Given the description of an element on the screen output the (x, y) to click on. 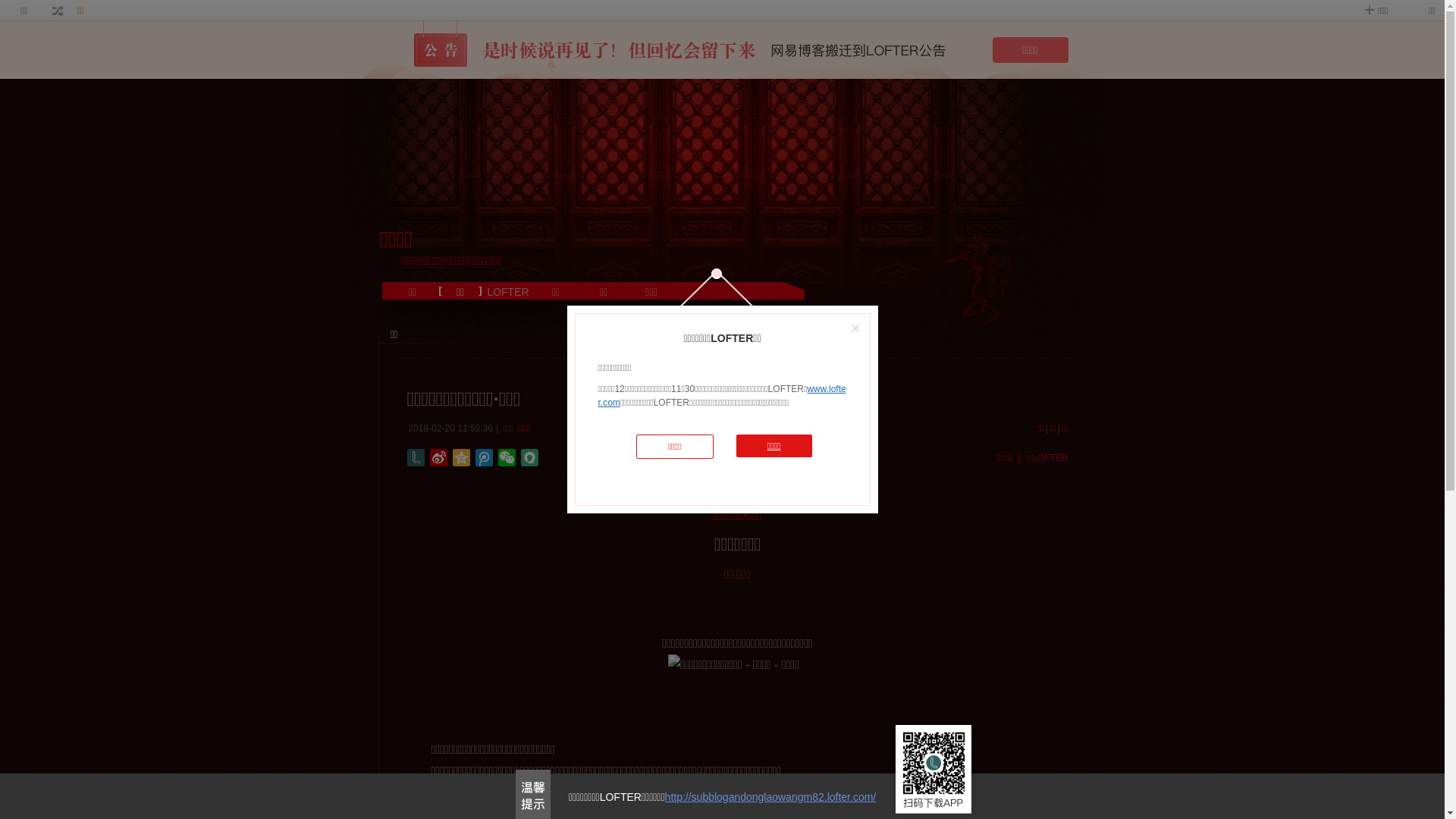
http://subblogandonglaowangm82.lofter.com/ Element type: text (770, 796)
LOFTER Element type: text (507, 294)
www.lofter.com Element type: text (721, 395)
  Element type: text (58, 10)
